Given the description of an element on the screen output the (x, y) to click on. 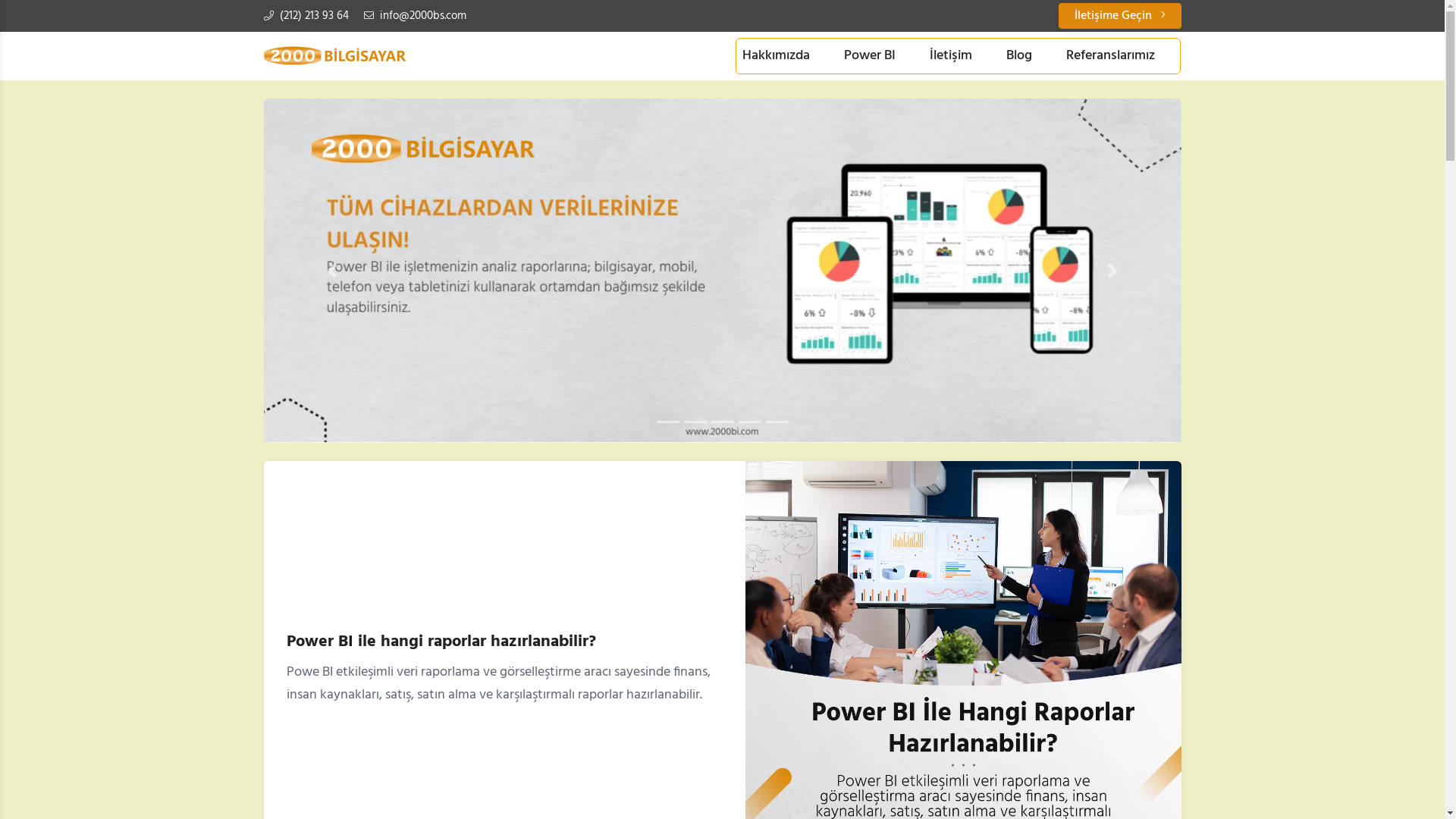
info@2000bs.com Element type: text (415, 15)
Blog Element type: text (1019, 55)
Previous Element type: text (332, 270)
(212) 213 93 64 Element type: text (305, 15)
Ana Sayfa Element type: hover (334, 55)
Power BI Element type: text (869, 55)
Next Element type: text (1112, 270)
